Given the description of an element on the screen output the (x, y) to click on. 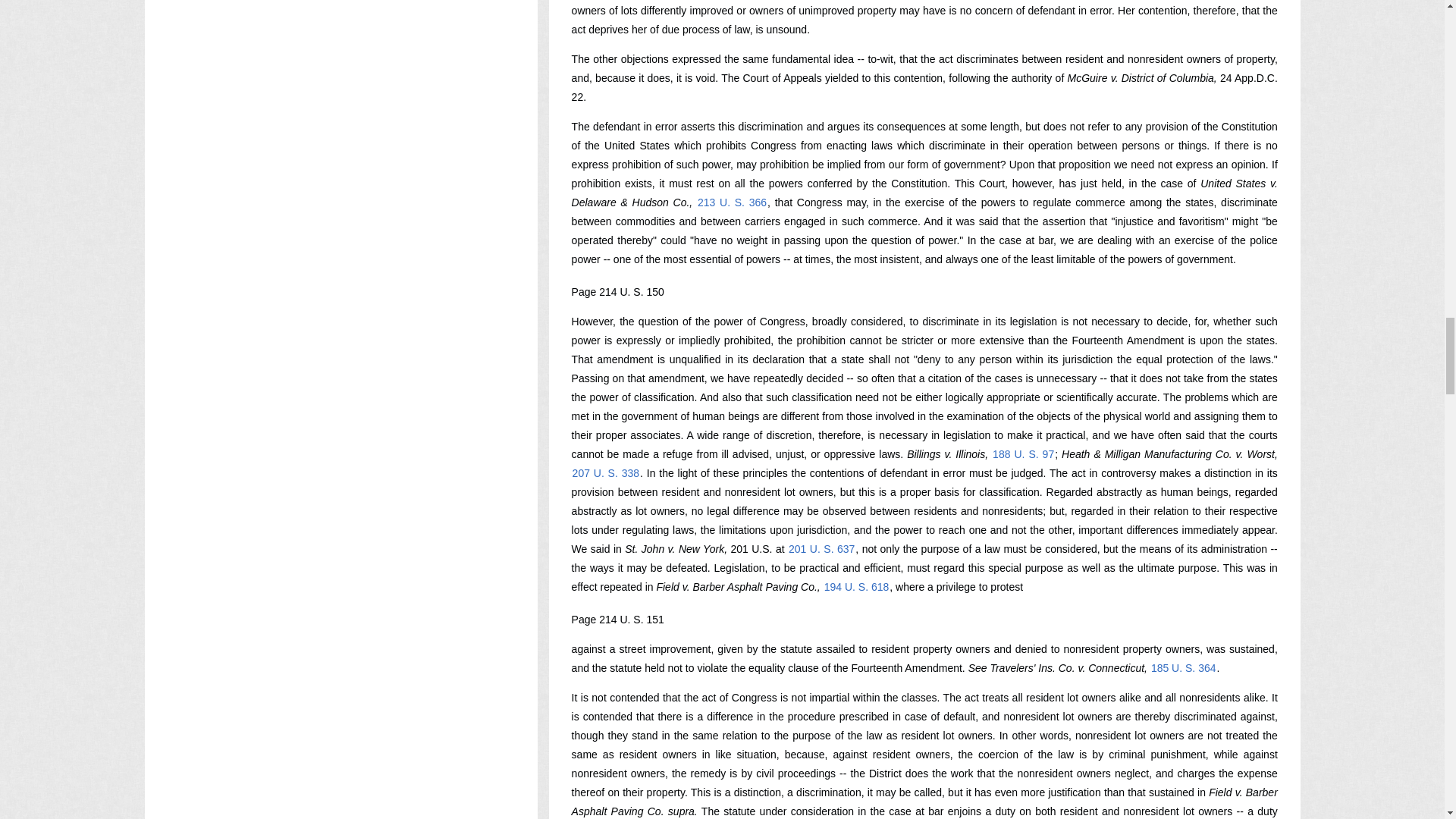
213 U. S. 366 (732, 202)
207 U. S. 338 (606, 472)
188 U. S. 97 (1022, 453)
194 U. S. 618 (856, 586)
201 U. S. 637 (821, 548)
Page 214 U. S. 151 (617, 619)
Page 214 U. S. 150 (617, 291)
